Given the description of an element on the screen output the (x, y) to click on. 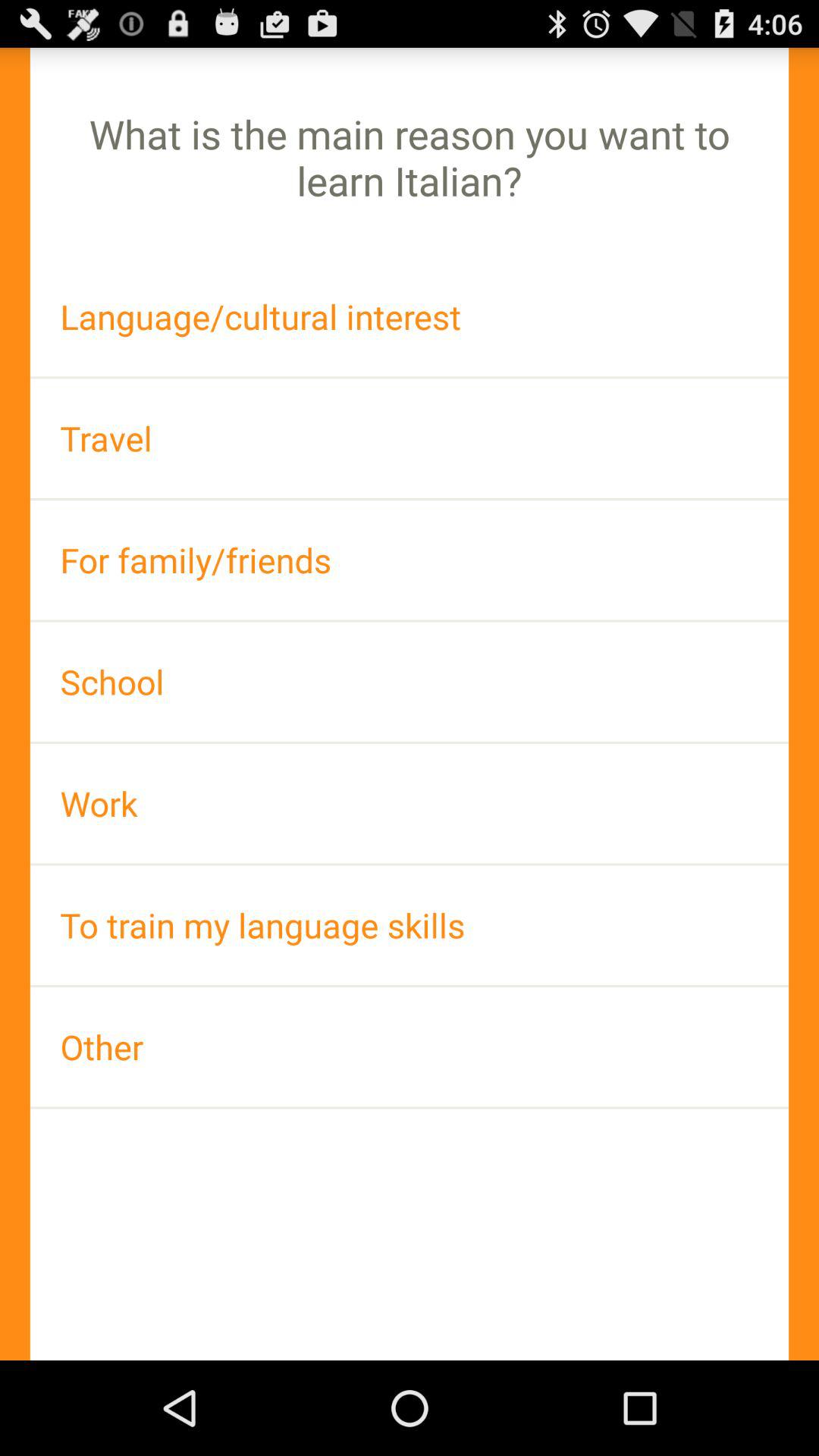
press item below work app (409, 925)
